Given the description of an element on the screen output the (x, y) to click on. 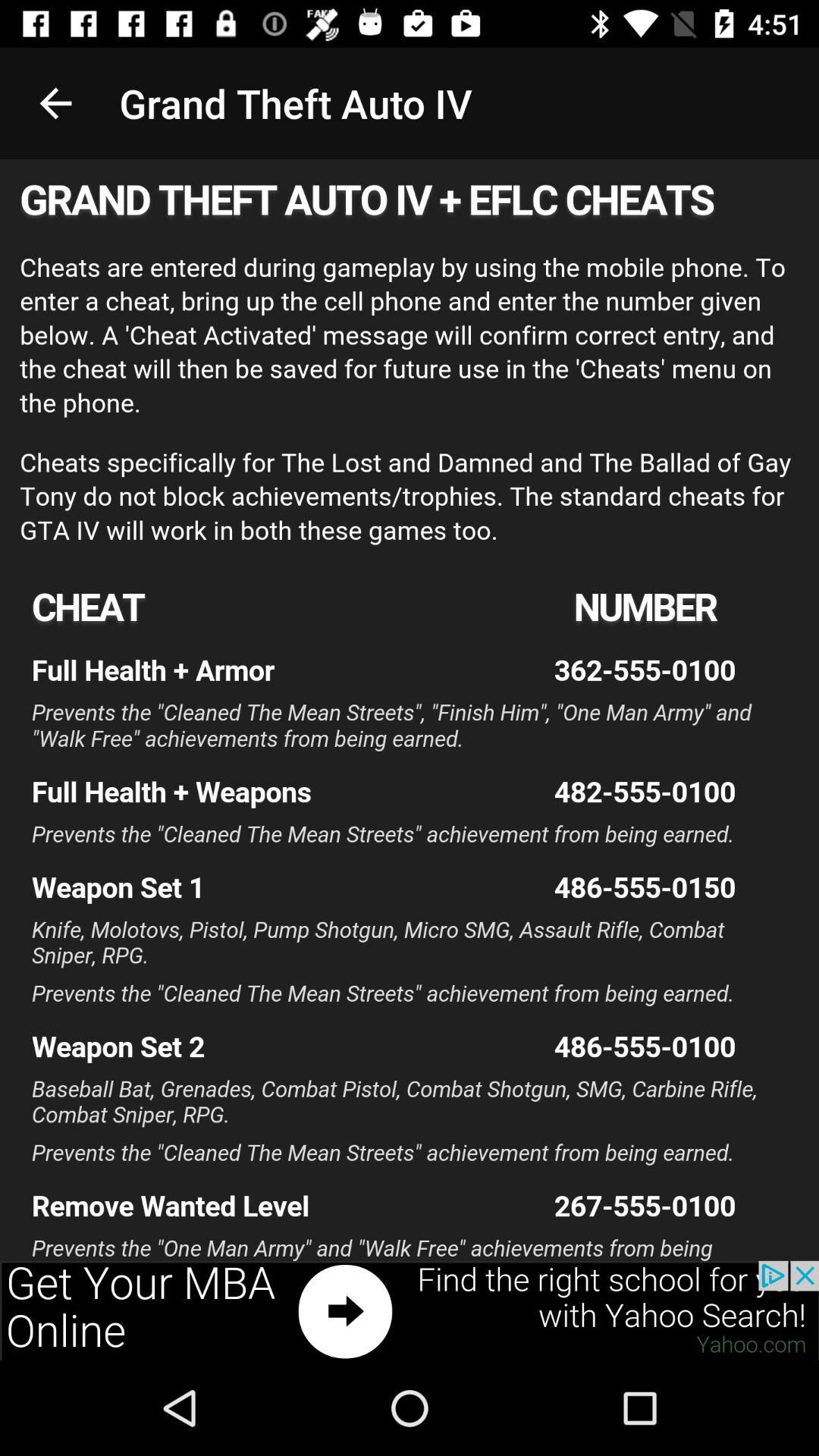
tap advertisement (409, 1310)
